Given the description of an element on the screen output the (x, y) to click on. 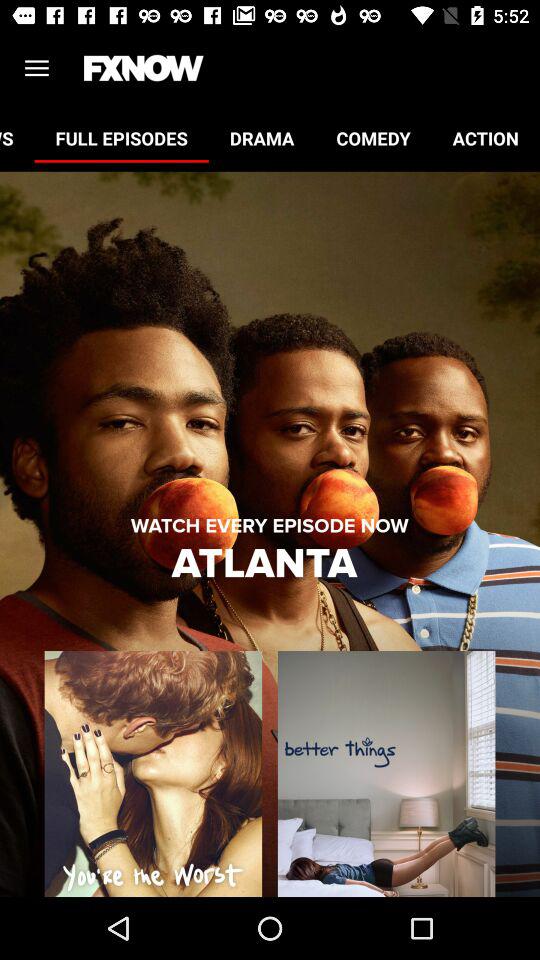
select the icon to the right of the drama (373, 138)
